Given the description of an element on the screen output the (x, y) to click on. 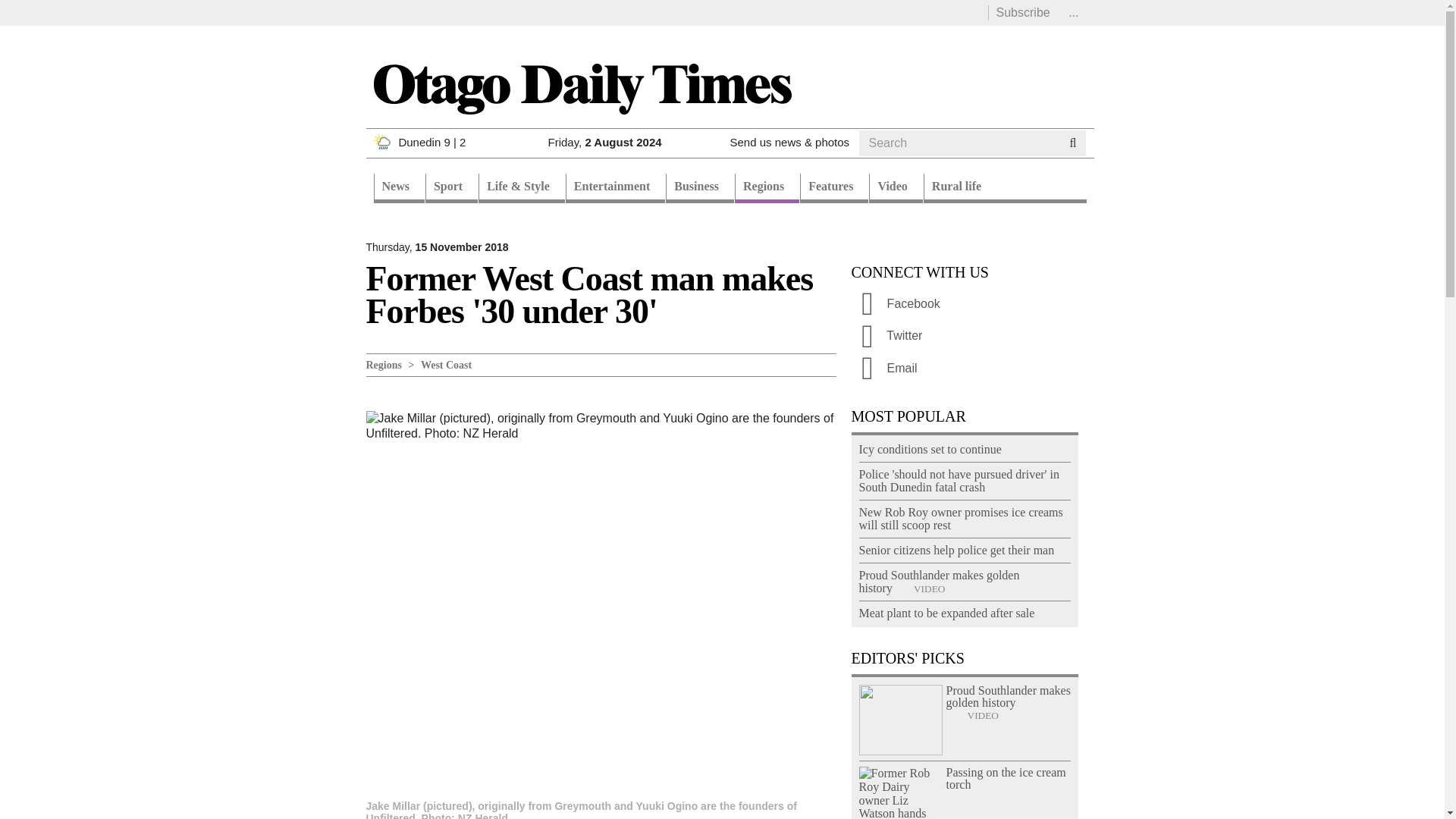
Home (581, 87)
Subscribe (1022, 11)
Search (888, 161)
Enter the terms you wish to search for. (959, 143)
News (397, 188)
Few showers (381, 141)
Sport (451, 188)
